Given the description of an element on the screen output the (x, y) to click on. 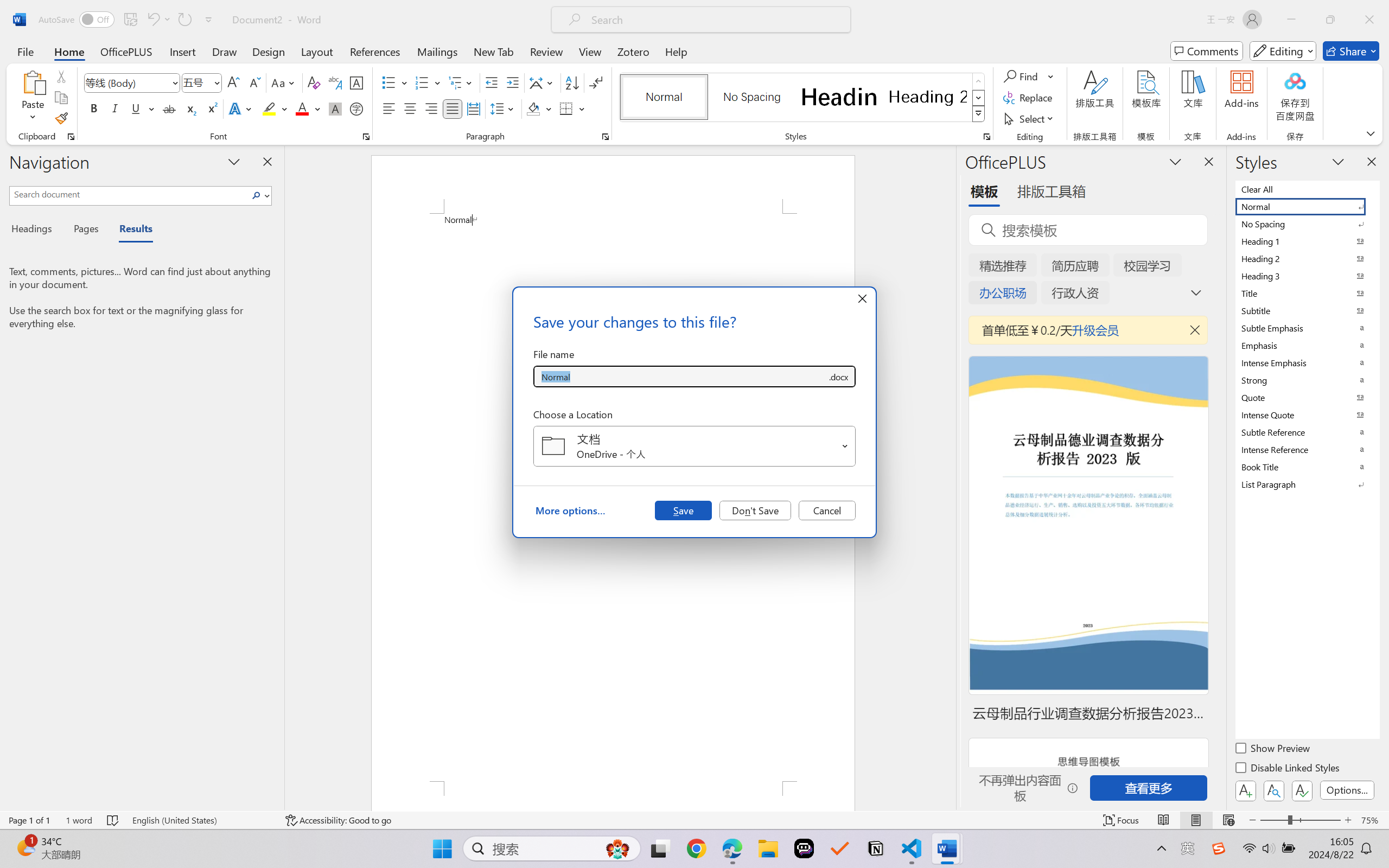
Asian Layout (542, 82)
Shrink Font (253, 82)
Clear Formatting (313, 82)
Character Border (356, 82)
Office Clipboard... (70, 136)
Save (682, 509)
Choose a Location (694, 446)
Open (844, 446)
Increase Indent (512, 82)
Ribbon Display Options (1370, 132)
Class: NetUIImage (978, 114)
Don't Save (755, 509)
